Given the description of an element on the screen output the (x, y) to click on. 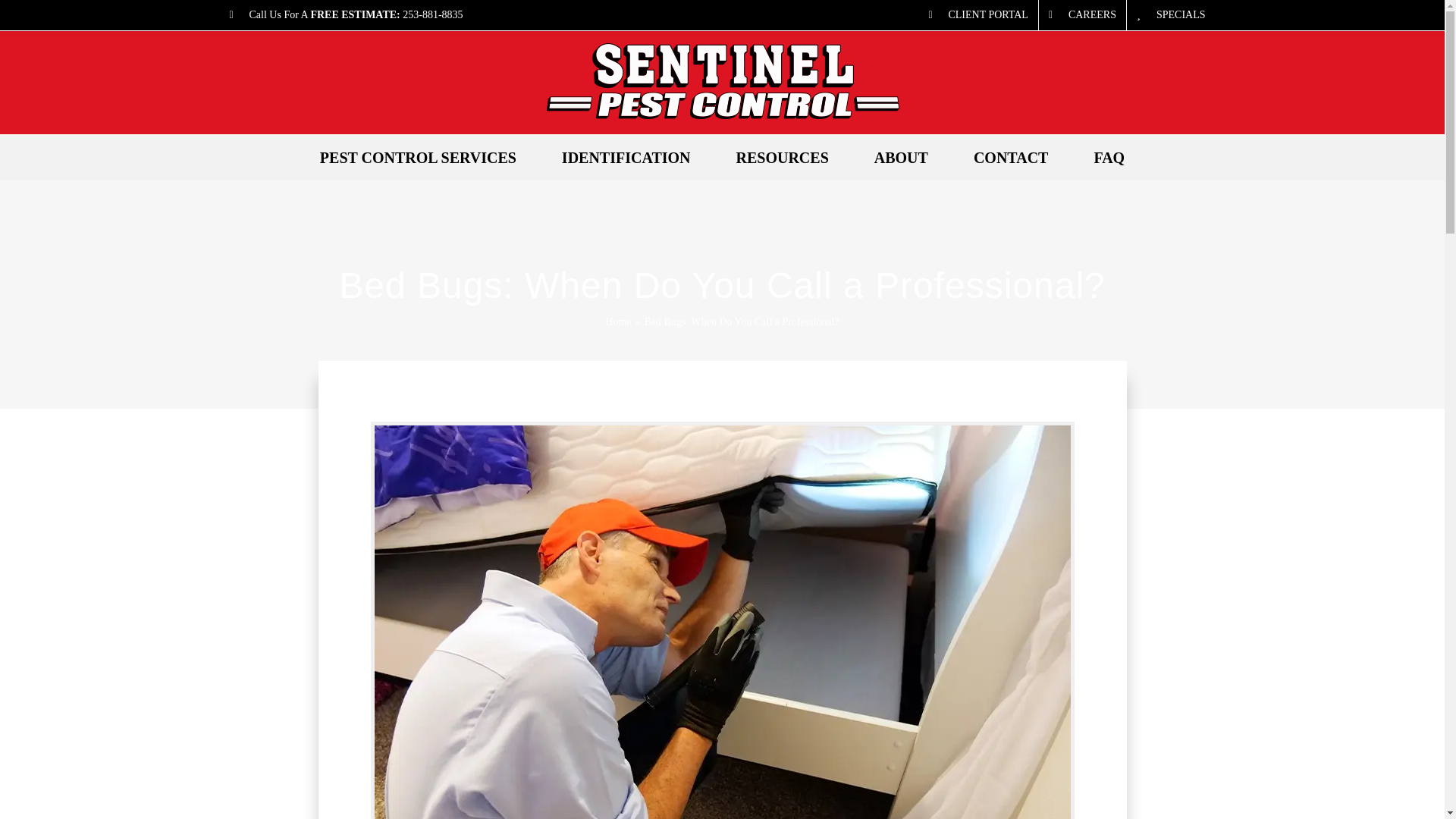
PEST CONTROL SERVICES (417, 157)
FAQ (1108, 157)
CAREERS (1082, 15)
RESOURCES (782, 157)
ABOUT (900, 157)
SPECIALS (1170, 15)
CONTACT (1010, 157)
Home (617, 321)
